Given the description of an element on the screen output the (x, y) to click on. 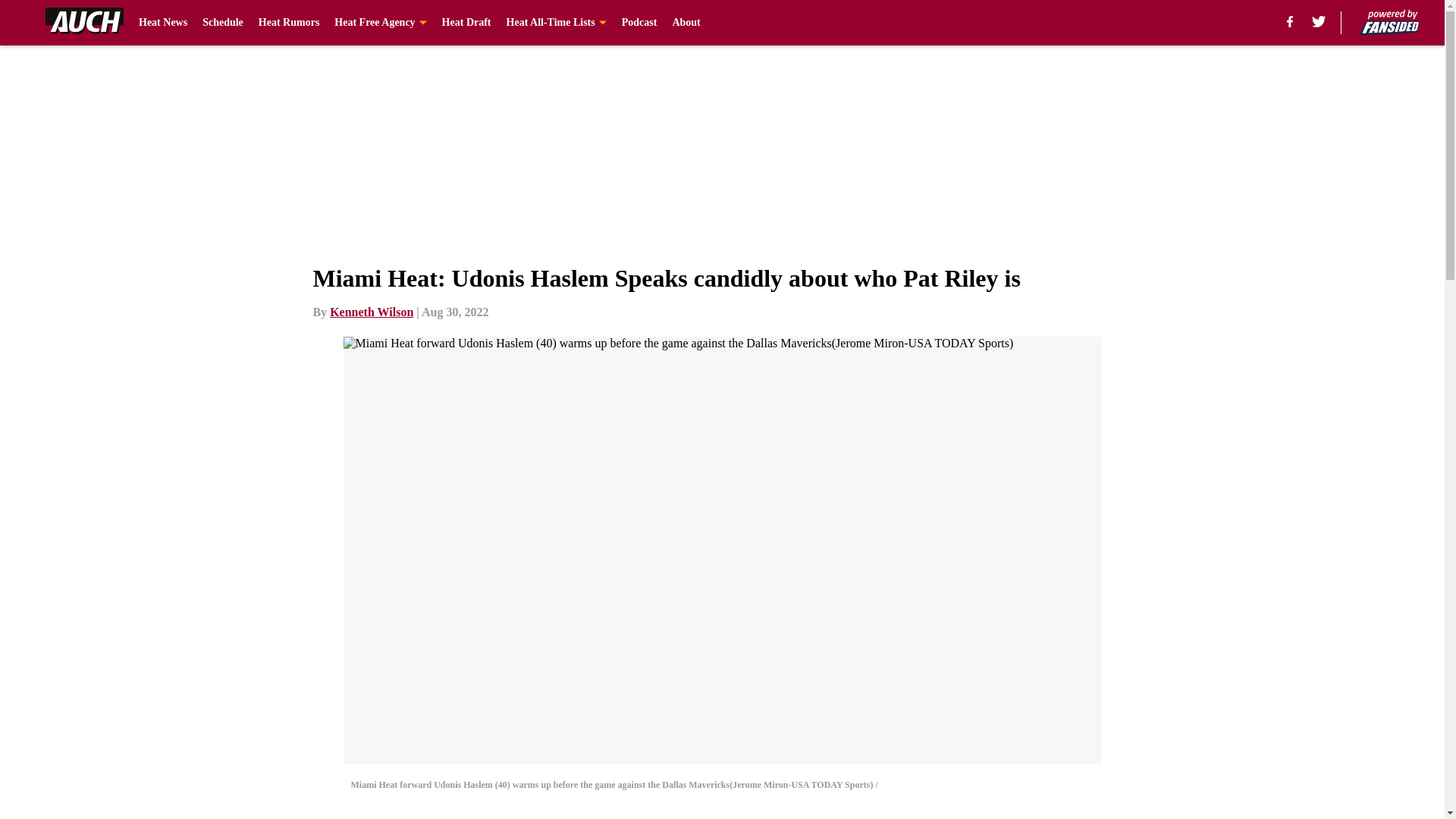
Schedule (222, 22)
Heat Draft (467, 22)
Heat Rumors (289, 22)
Heat News (162, 22)
Podcast (639, 22)
Kenneth Wilson (371, 311)
About (685, 22)
